Given the description of an element on the screen output the (x, y) to click on. 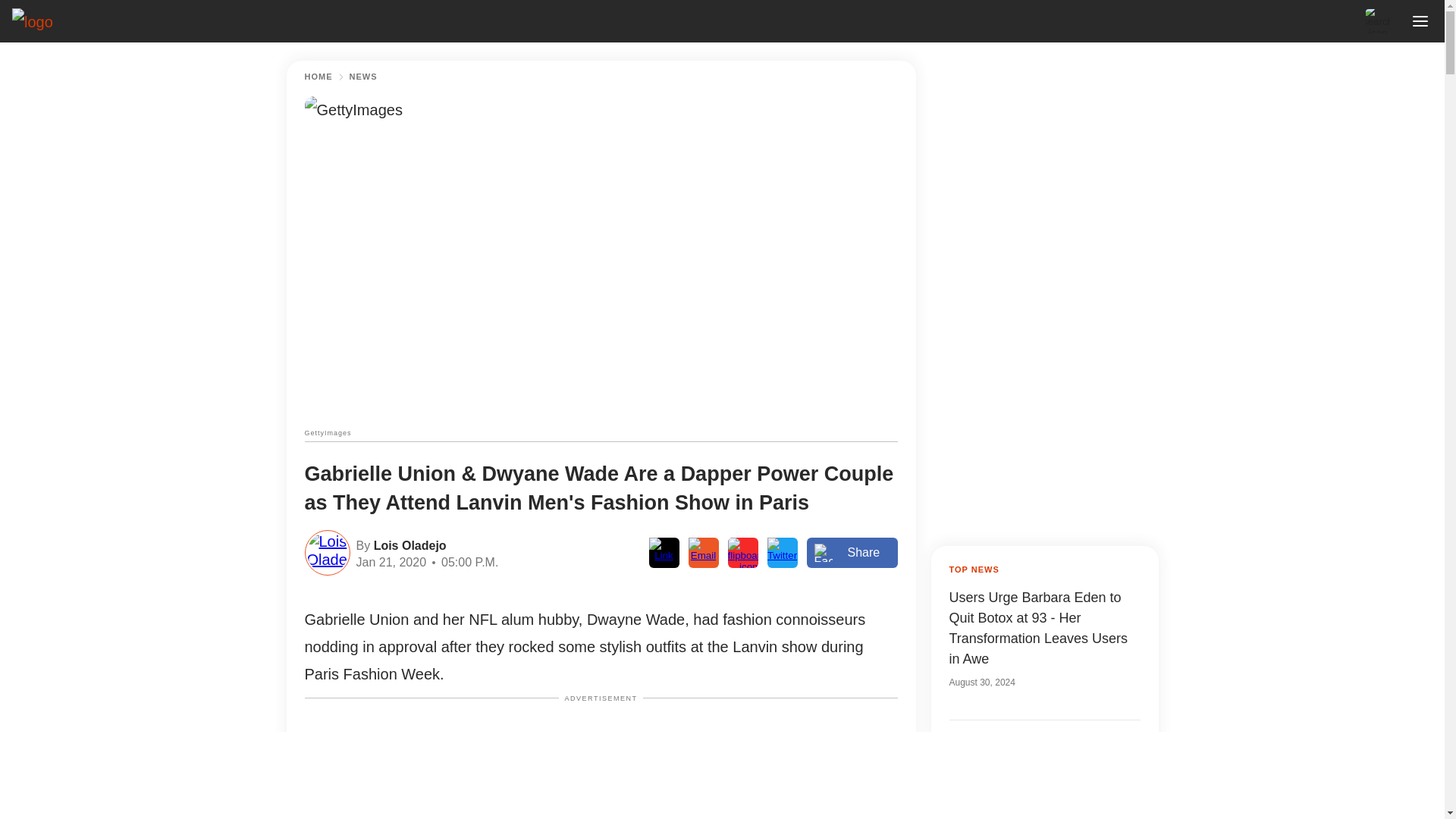
Lois Oladejo (407, 544)
NEWS (363, 76)
HOME (318, 76)
